Given the description of an element on the screen output the (x, y) to click on. 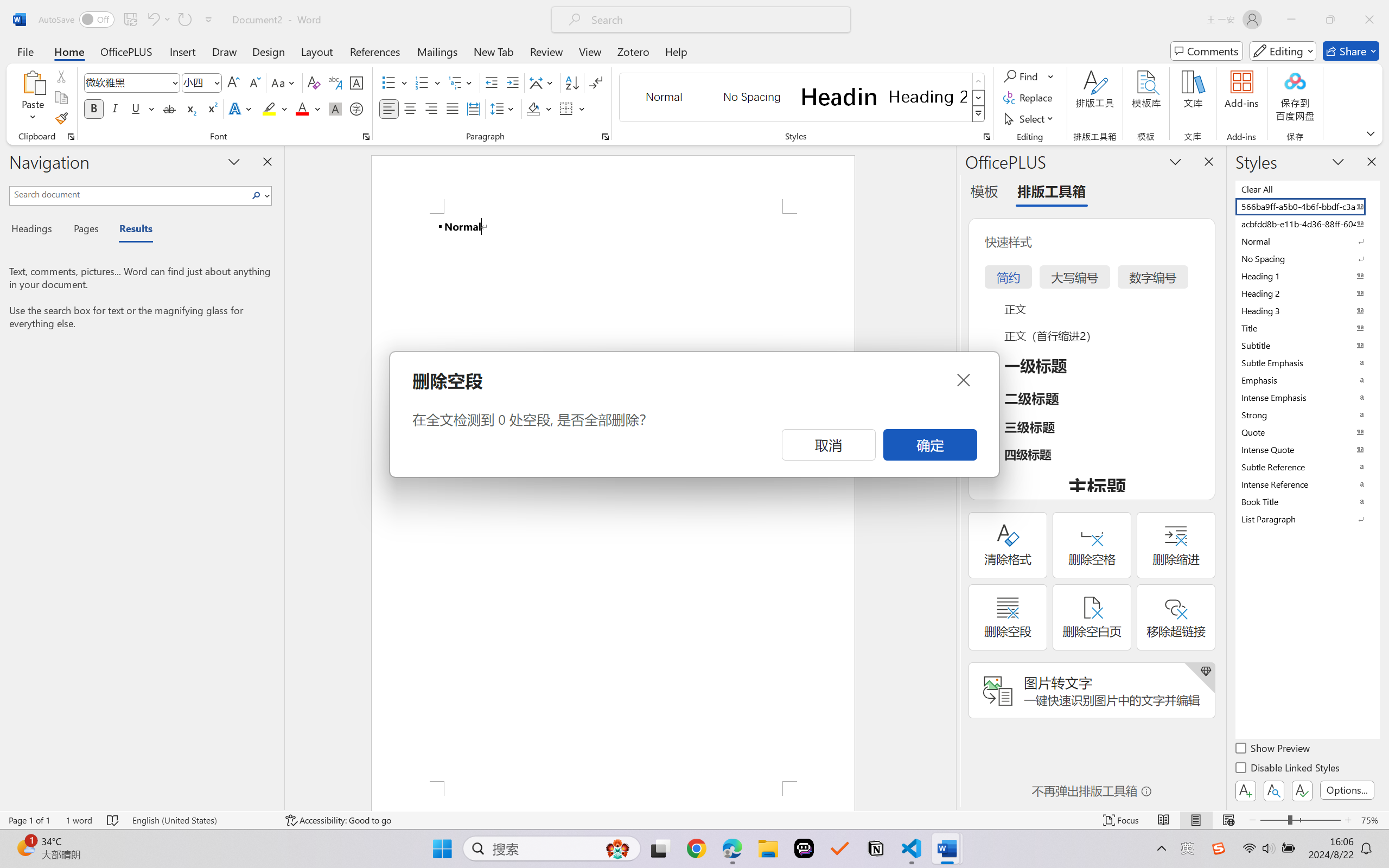
Disable Linked Styles (1287, 769)
Search (259, 195)
Office Clipboard... (70, 136)
Strikethrough (169, 108)
Bullets (388, 82)
Paste (33, 81)
Text Effects and Typography (241, 108)
No Spacing (1306, 258)
Task Pane Options (1175, 161)
Save (130, 19)
File Tab (24, 51)
